Given the description of an element on the screen output the (x, y) to click on. 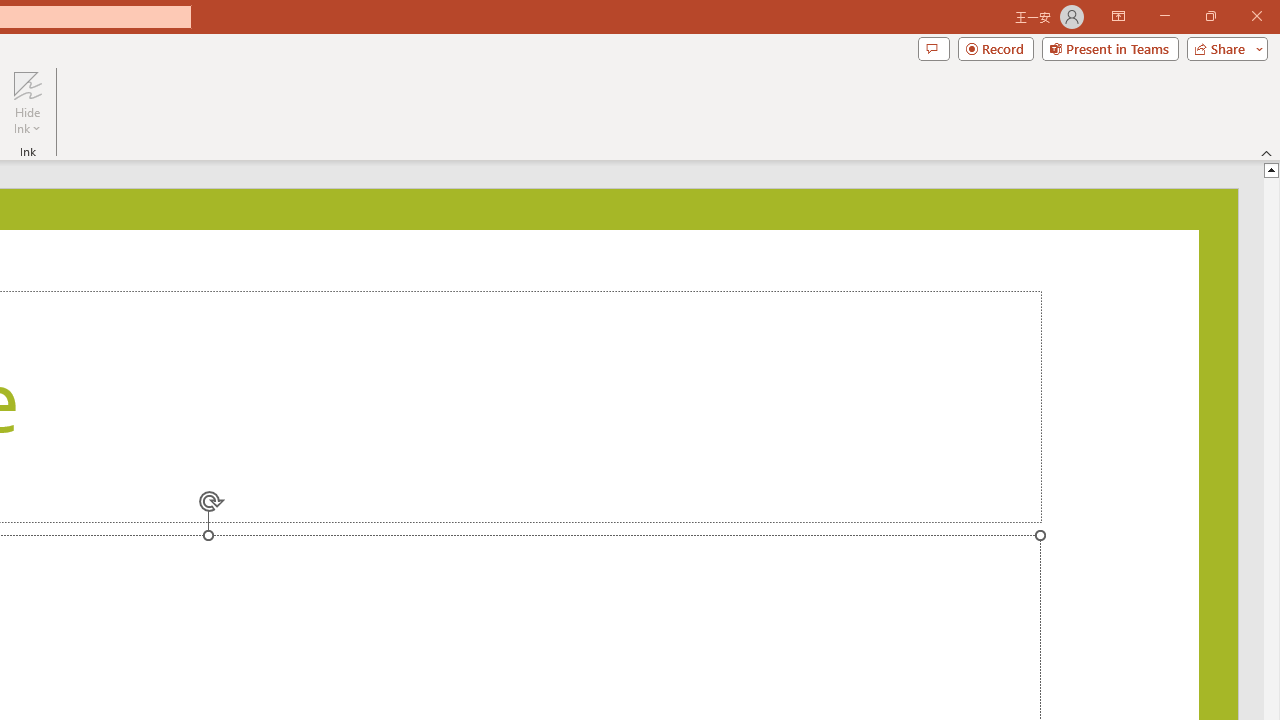
Hide Ink (27, 84)
Hide Ink (27, 102)
